Given the description of an element on the screen output the (x, y) to click on. 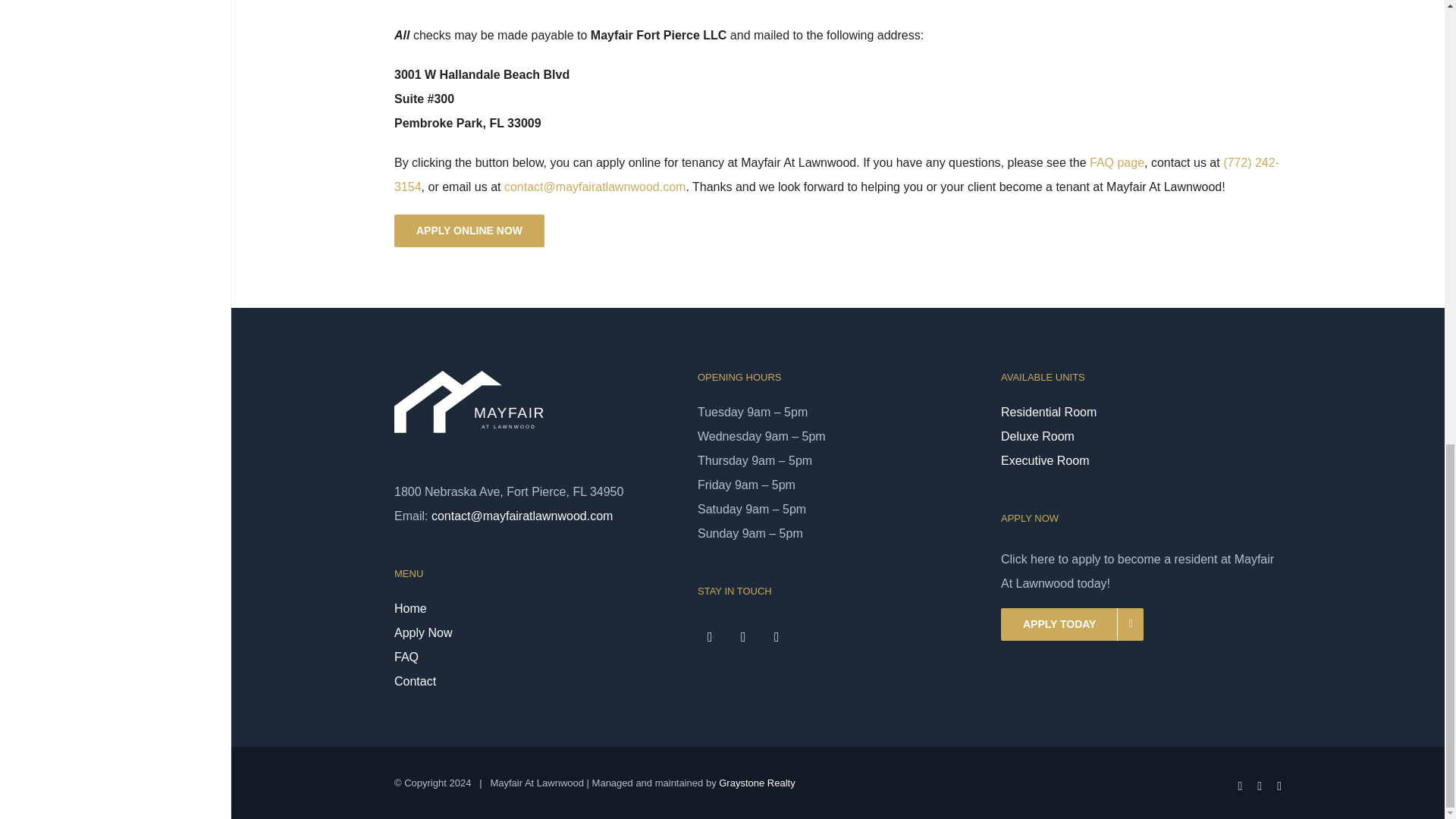
APPLY TODAY (1072, 624)
Facebook (709, 636)
Contact (534, 681)
APPLY ONLINE NOW (469, 230)
FAQ (534, 657)
Twitter (1259, 786)
Twitter (742, 636)
Residential Room (1141, 412)
Apply Now (534, 632)
Instagram (1278, 786)
Home (534, 608)
FAQ page (1116, 162)
Instagram (776, 636)
Executive Room (1141, 460)
Facebook (1239, 786)
